Given the description of an element on the screen output the (x, y) to click on. 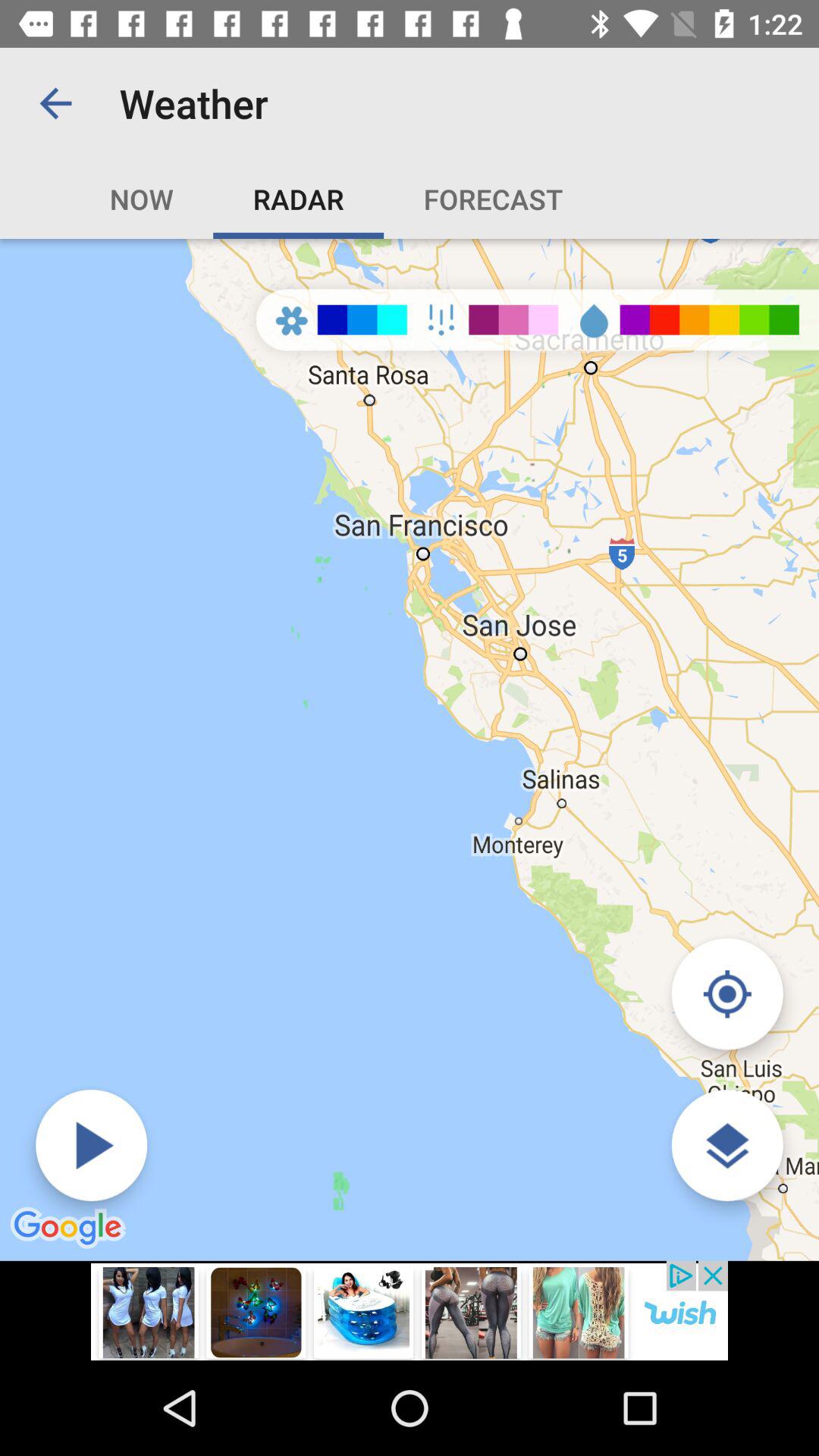
location (727, 993)
